Given the description of an element on the screen output the (x, y) to click on. 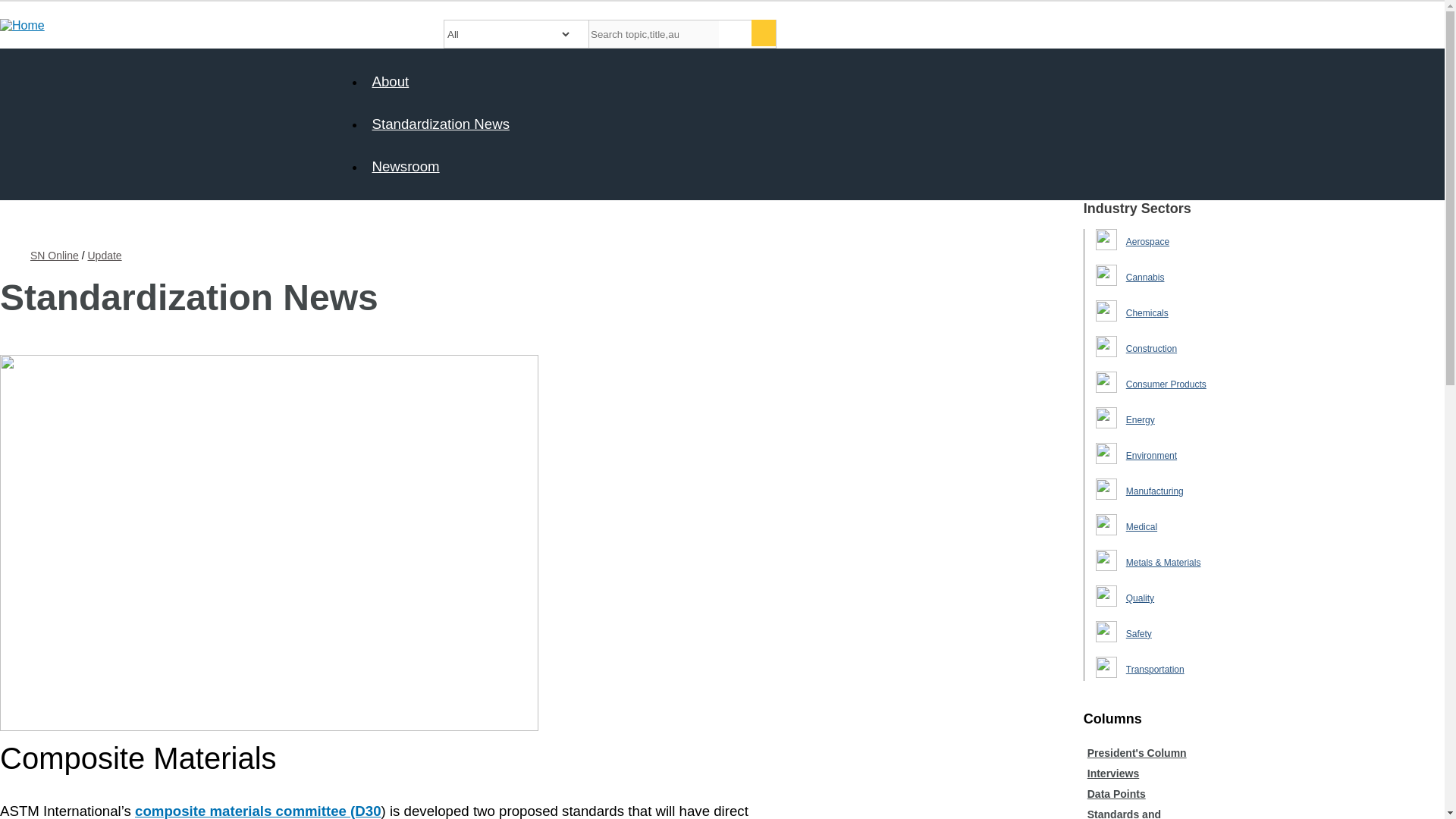
Standardization News (440, 123)
Environment (1150, 455)
D30 (258, 811)
Chemicals (1147, 312)
Interviews (1112, 773)
Standardization News (440, 123)
SN Online (54, 255)
President's Column (1136, 752)
Enter the terms you wish to search for. (654, 33)
